Given the description of an element on the screen output the (x, y) to click on. 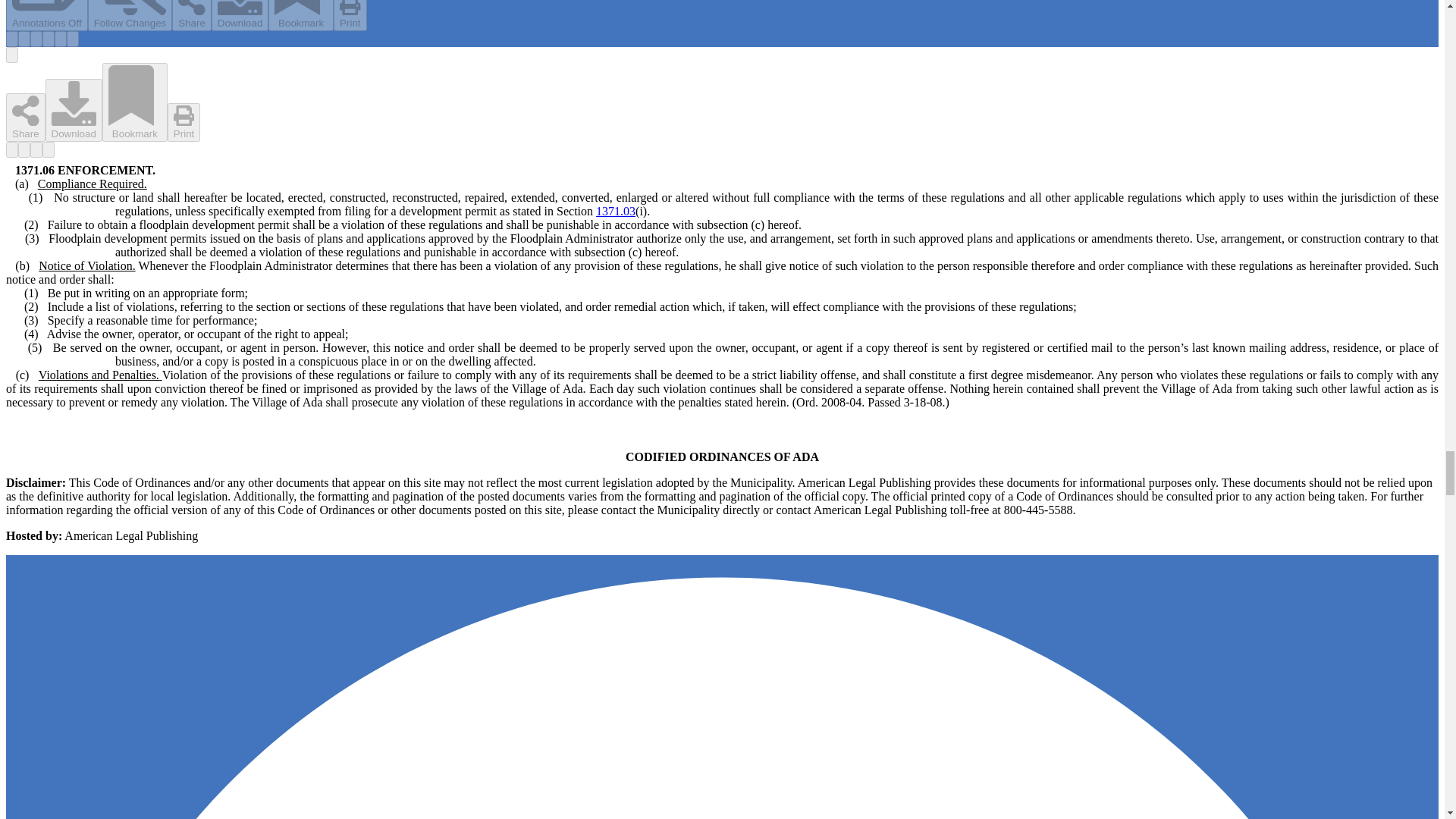
Annotations Off (46, 15)
Bookmark (300, 15)
Follow (130, 15)
Download (239, 15)
Print (349, 15)
Download (73, 109)
Share (191, 15)
